Given the description of an element on the screen output the (x, y) to click on. 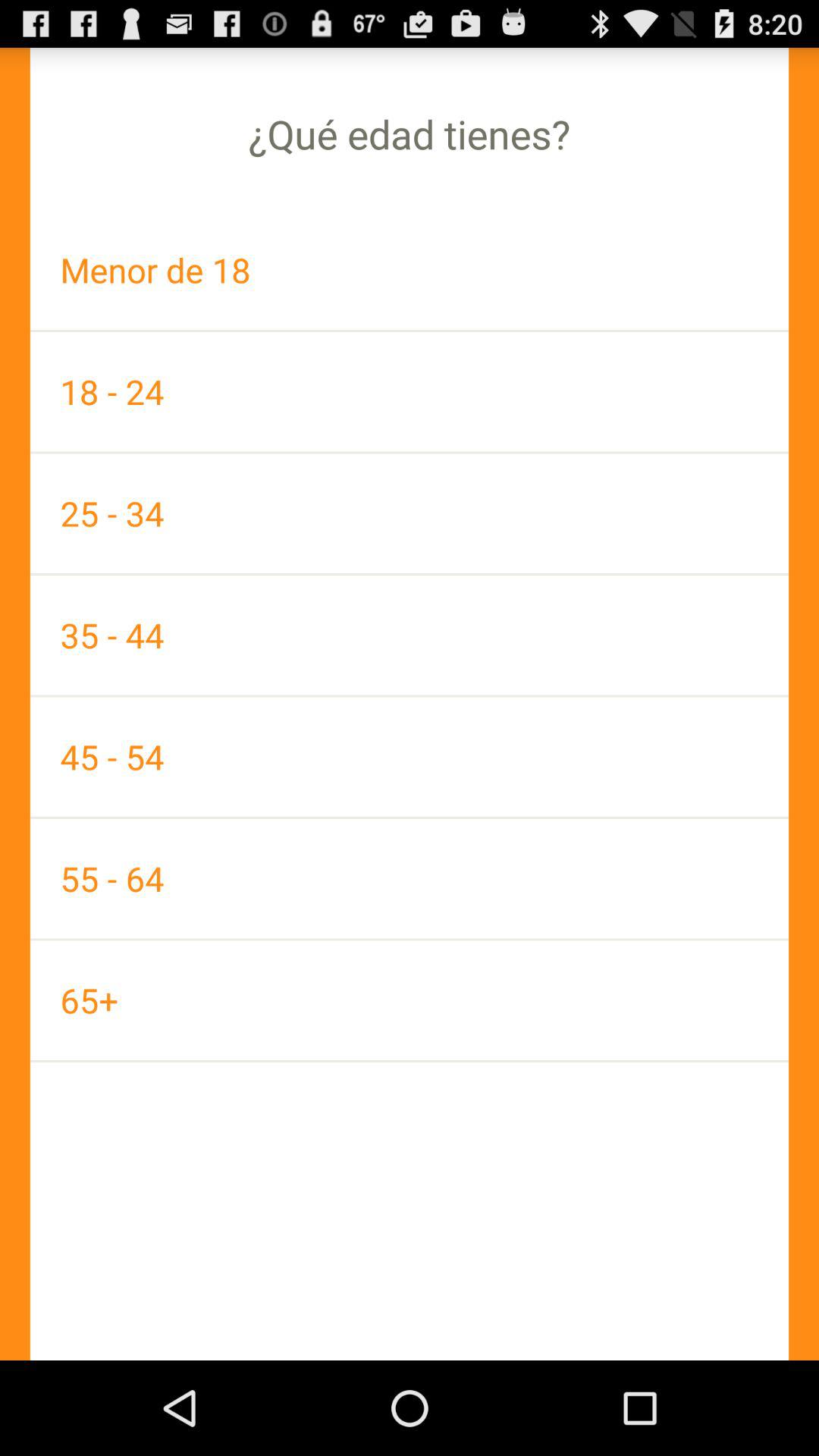
click the app at the bottom (409, 1000)
